Given the description of an element on the screen output the (x, y) to click on. 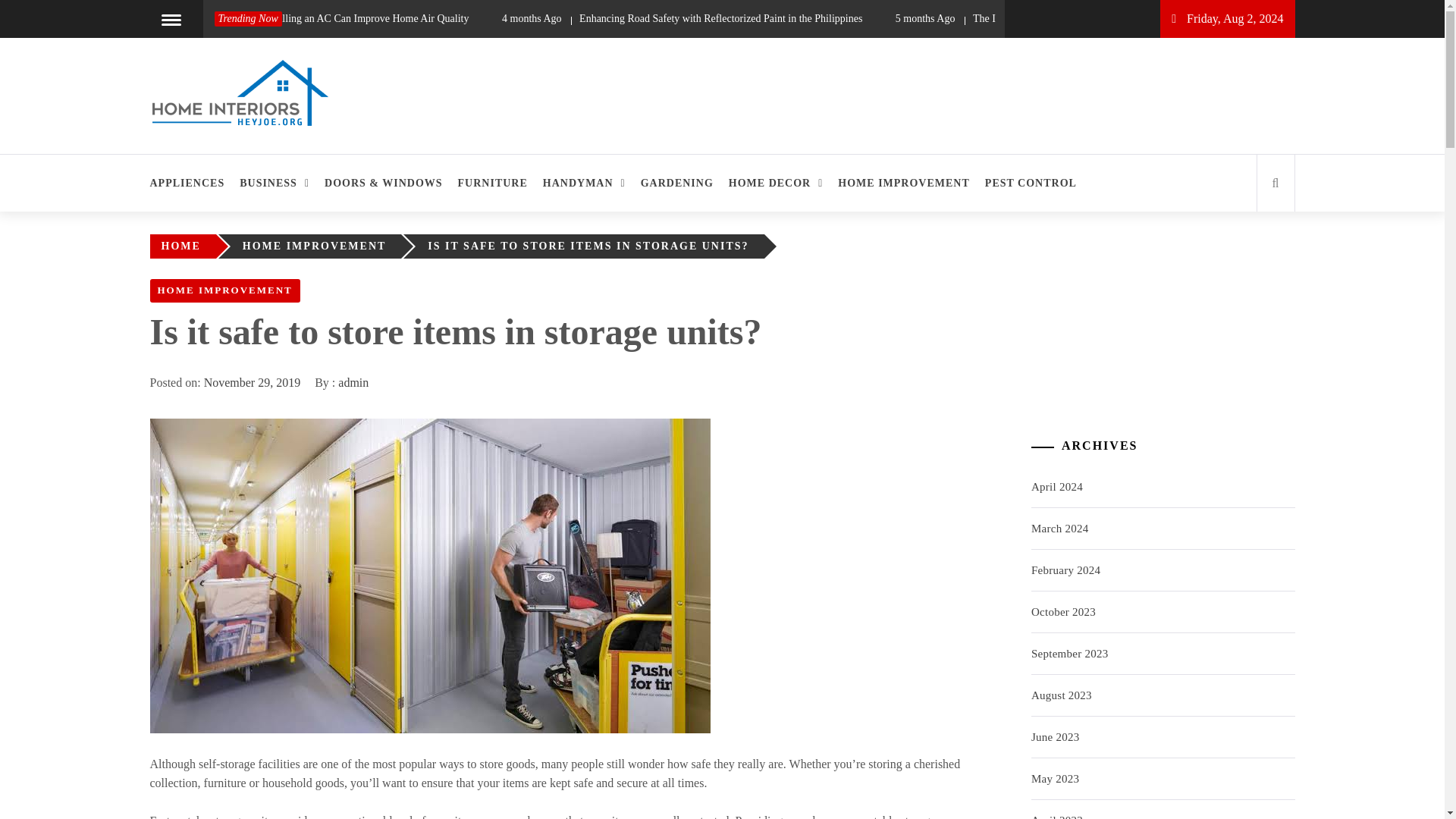
BUSINESS (274, 182)
PEST CONTROL (1030, 182)
IS IT SAFE TO STORE ITEMS IN STORAGE UNITS? (591, 245)
HANDYMAN (584, 182)
FURNITURE (492, 182)
Home Decor (227, 155)
HOME IMPROVEMENT (902, 182)
admin (352, 382)
APPLIENCES (190, 182)
HOME IMPROVEMENT (318, 245)
HOME IMPROVEMENT (224, 290)
HOME DECOR (775, 182)
